Given the description of an element on the screen output the (x, y) to click on. 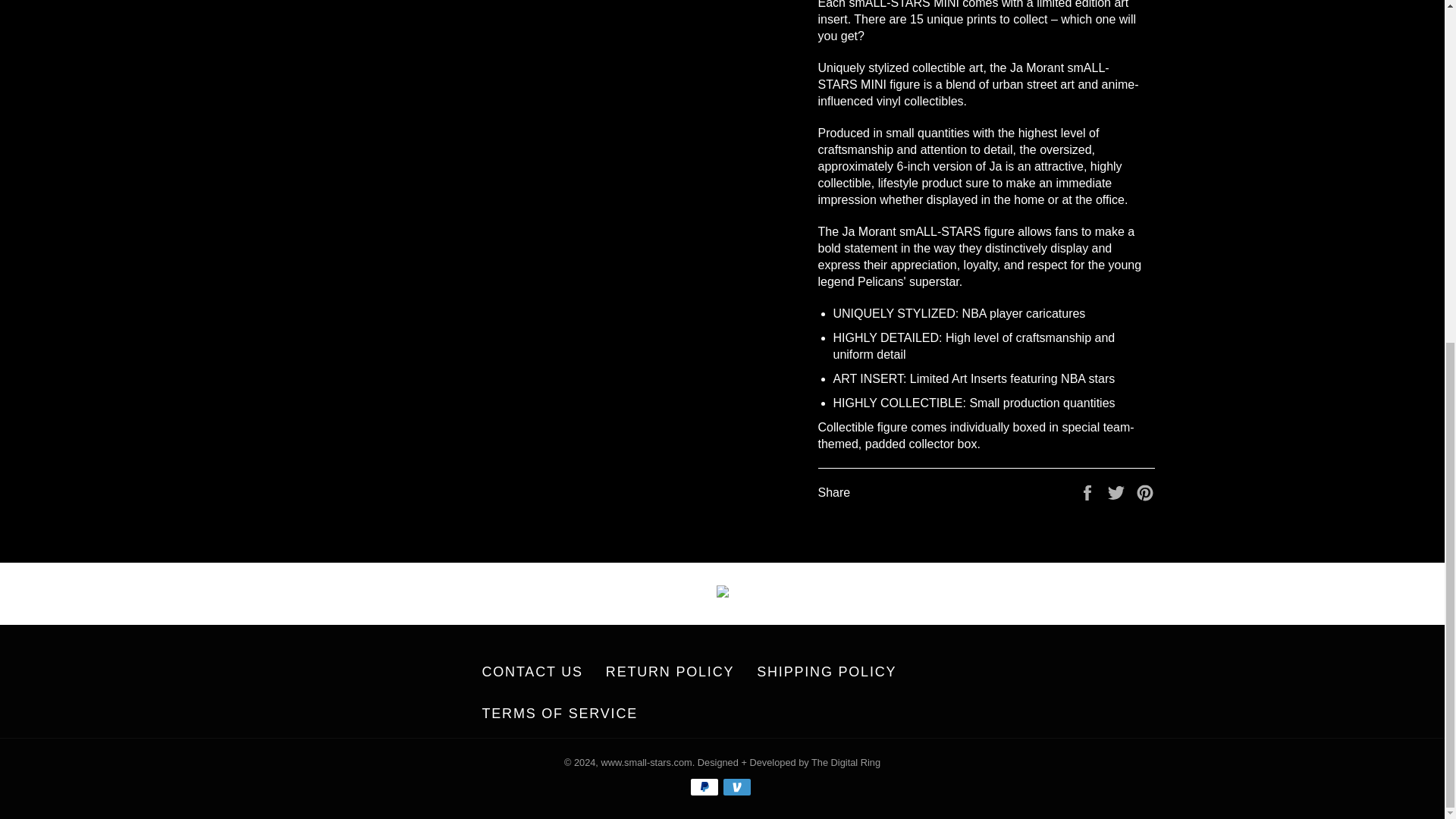
Tweet on Twitter (1117, 491)
Pin on Pinterest (1144, 491)
Pin on Pinterest (1144, 491)
Share on Facebook (1088, 491)
Share on Facebook (1088, 491)
Tweet on Twitter (1117, 491)
CONTACT US (532, 671)
